Given the description of an element on the screen output the (x, y) to click on. 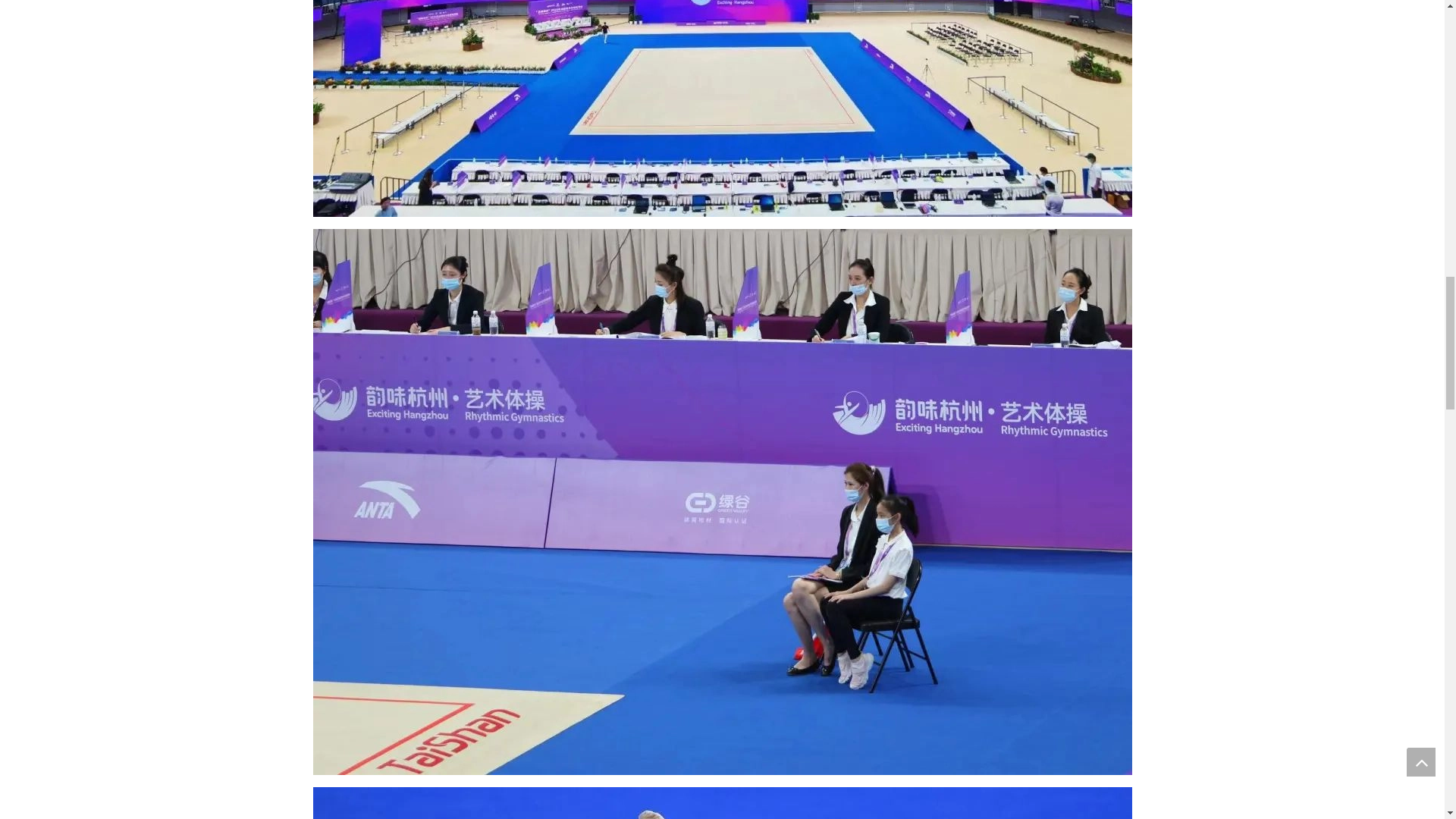
3 (722, 803)
